Given the description of an element on the screen output the (x, y) to click on. 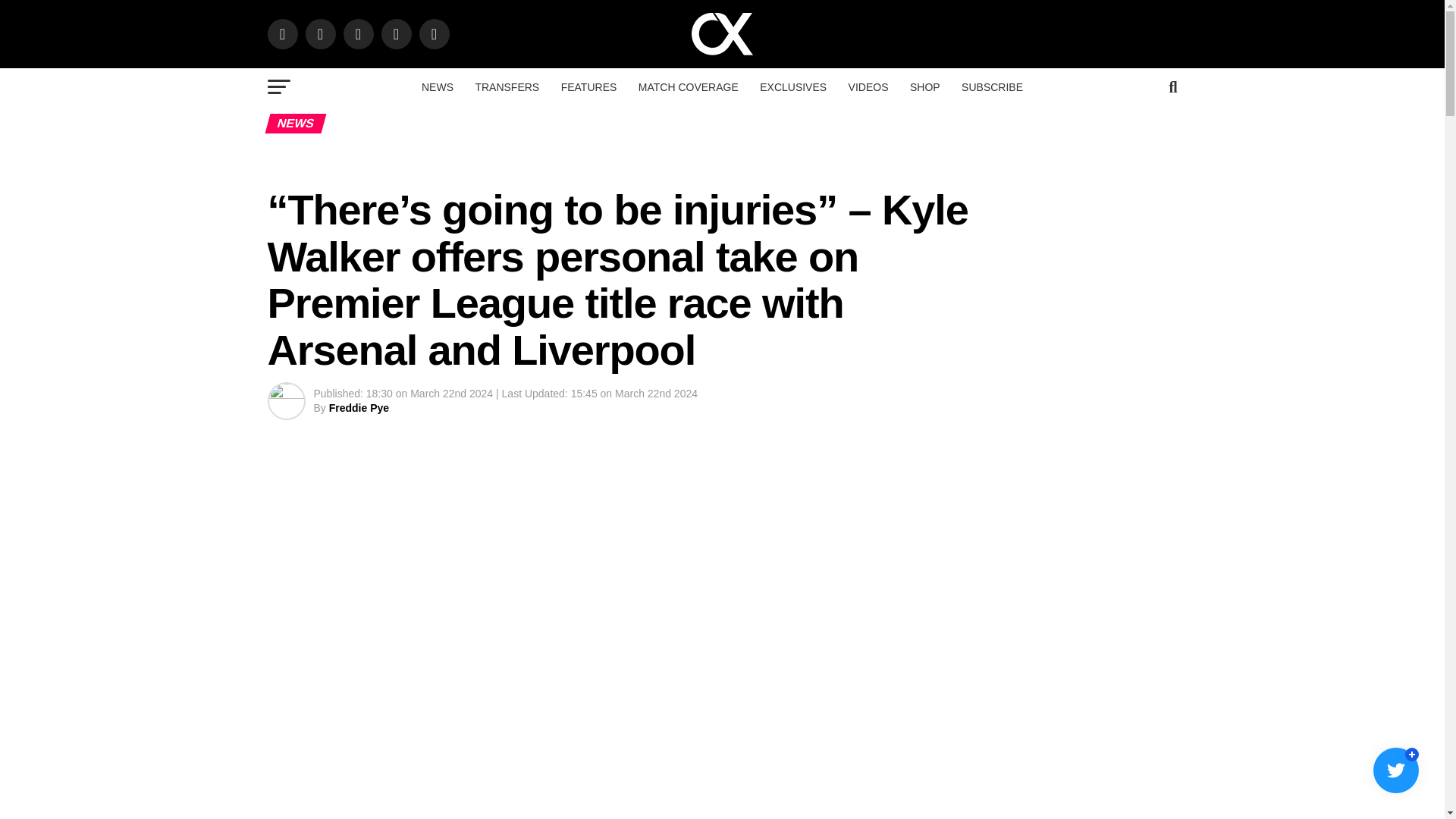
TRANSFERS (506, 86)
Posts by Freddie Pye (358, 408)
NEWS (437, 86)
